Given the description of an element on the screen output the (x, y) to click on. 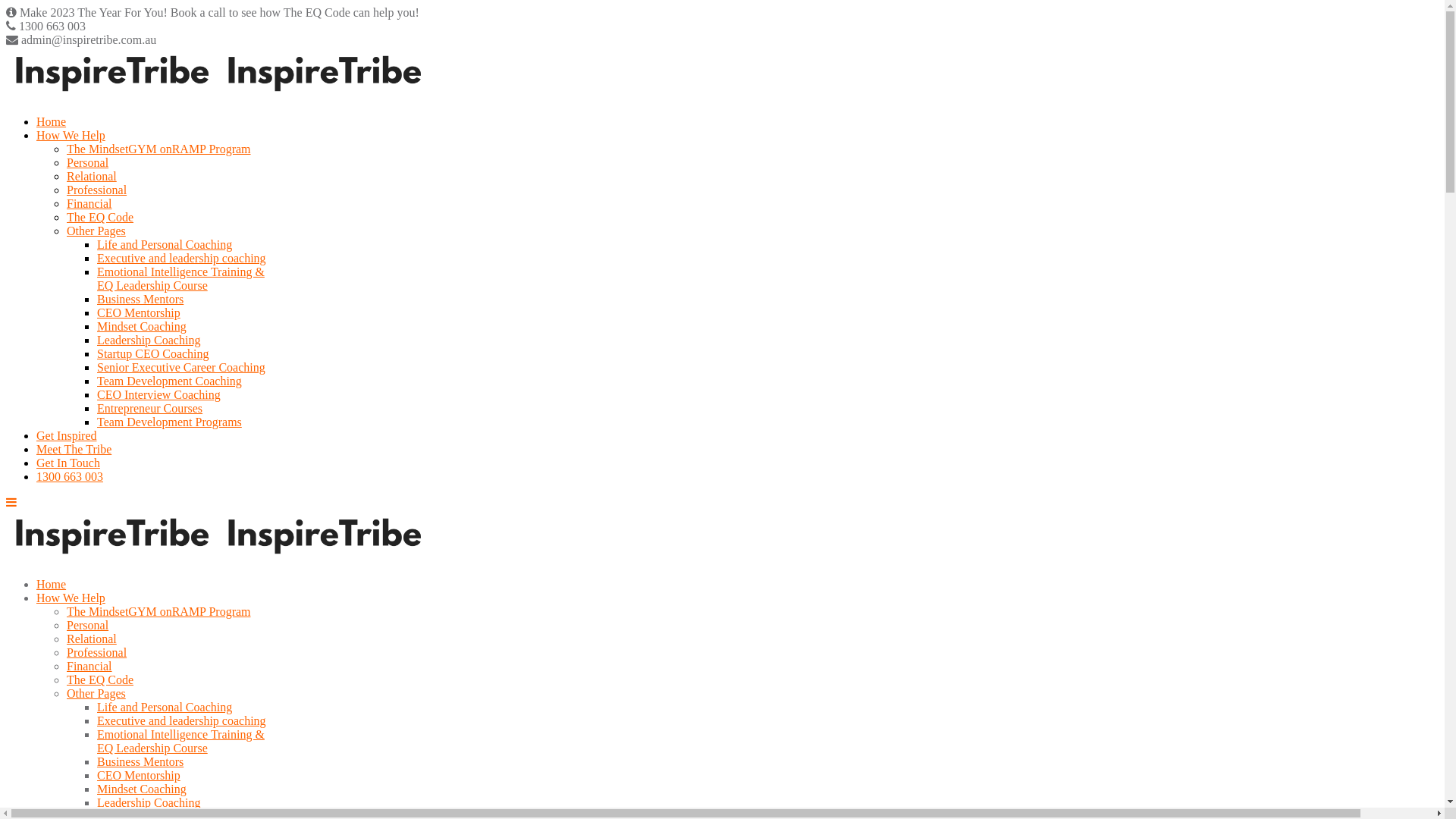
Business Mentors Element type: text (140, 298)
Entrepreneur Courses Element type: text (149, 407)
The EQ Code Element type: text (99, 679)
How We Help Element type: text (70, 597)
Home Element type: text (50, 121)
Business Mentors Element type: text (140, 761)
CEO Interview Coaching Element type: text (158, 394)
Senior Executive Career Coaching Element type: text (181, 366)
Leadership Coaching Element type: text (148, 802)
Financial Element type: text (89, 665)
Emotional Intelligence Training &
EQ Leadership Course Element type: text (180, 278)
The EQ Code Element type: text (99, 216)
Personal Element type: text (87, 624)
How We Help Element type: text (70, 134)
The MindsetGYM onRAMP Program Element type: text (158, 148)
Get Inspired Element type: text (66, 435)
Startup CEO Coaching Element type: text (153, 353)
Team Development Programs Element type: text (169, 421)
1300 663 003 Element type: text (69, 476)
Personal Element type: text (87, 162)
Emotional Intelligence Training &
EQ Leadership Course Element type: text (180, 741)
Professional Element type: text (96, 652)
Leadership Coaching Element type: text (148, 339)
Other Pages Element type: text (95, 693)
Relational Element type: text (91, 638)
Other Pages Element type: text (95, 230)
Mindset Coaching Element type: text (141, 326)
Home Element type: text (50, 583)
Executive and leadership coaching Element type: text (181, 720)
CEO Mentorship Element type: text (138, 312)
Mindset Coaching Element type: text (141, 788)
Executive and leadership coaching Element type: text (181, 257)
Get In Touch Element type: text (68, 462)
Professional Element type: text (96, 189)
Life and Personal Coaching Element type: text (164, 244)
Life and Personal Coaching Element type: text (164, 706)
Relational Element type: text (91, 175)
Team Development Coaching Element type: text (169, 380)
Meet The Tribe Element type: text (73, 448)
Financial Element type: text (89, 203)
CEO Mentorship Element type: text (138, 774)
The MindsetGYM onRAMP Program Element type: text (158, 611)
